Given the description of an element on the screen output the (x, y) to click on. 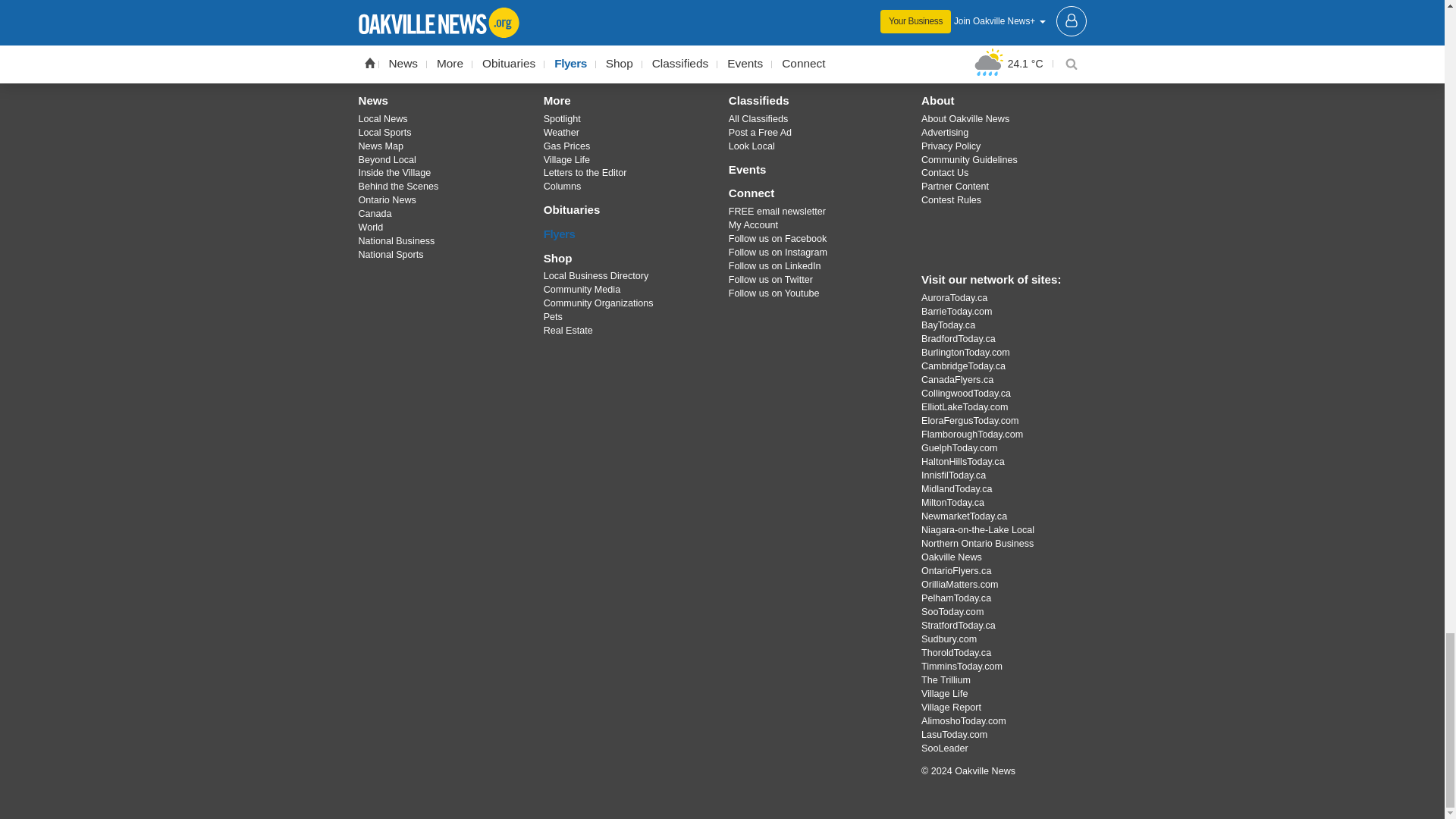
X (683, 46)
YouTube (760, 46)
LinkedIn (800, 46)
Facebook (644, 46)
Instagram (721, 46)
